Given the description of an element on the screen output the (x, y) to click on. 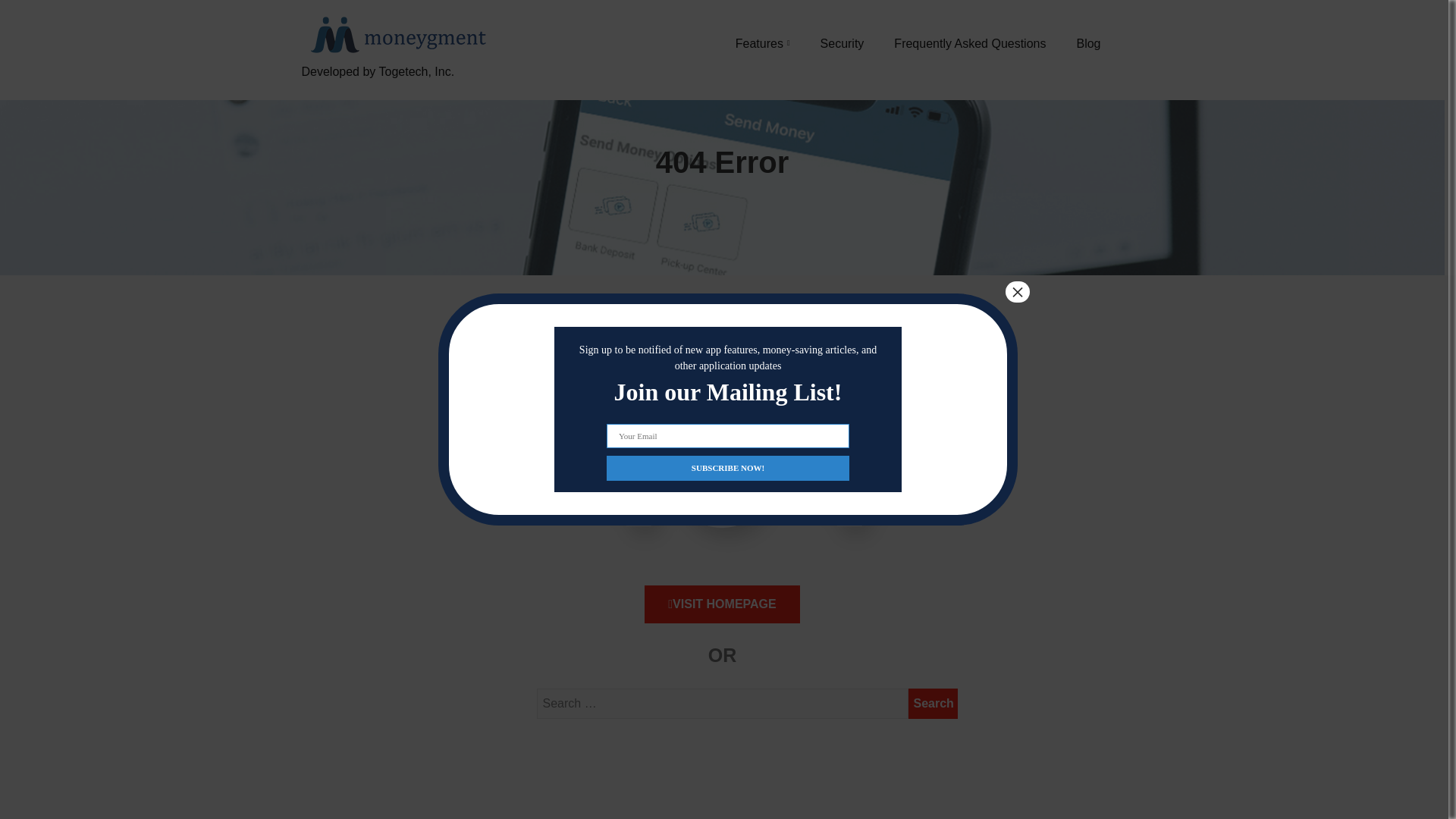
Search (933, 703)
Features (762, 43)
Frequently Asked Questions (969, 43)
SUBSCRIBE NOW! (727, 467)
Security (842, 43)
VISIT HOMEPAGE (722, 604)
Search (933, 703)
Search (933, 703)
Developed by Togetech, Inc. (396, 89)
